Given the description of an element on the screen output the (x, y) to click on. 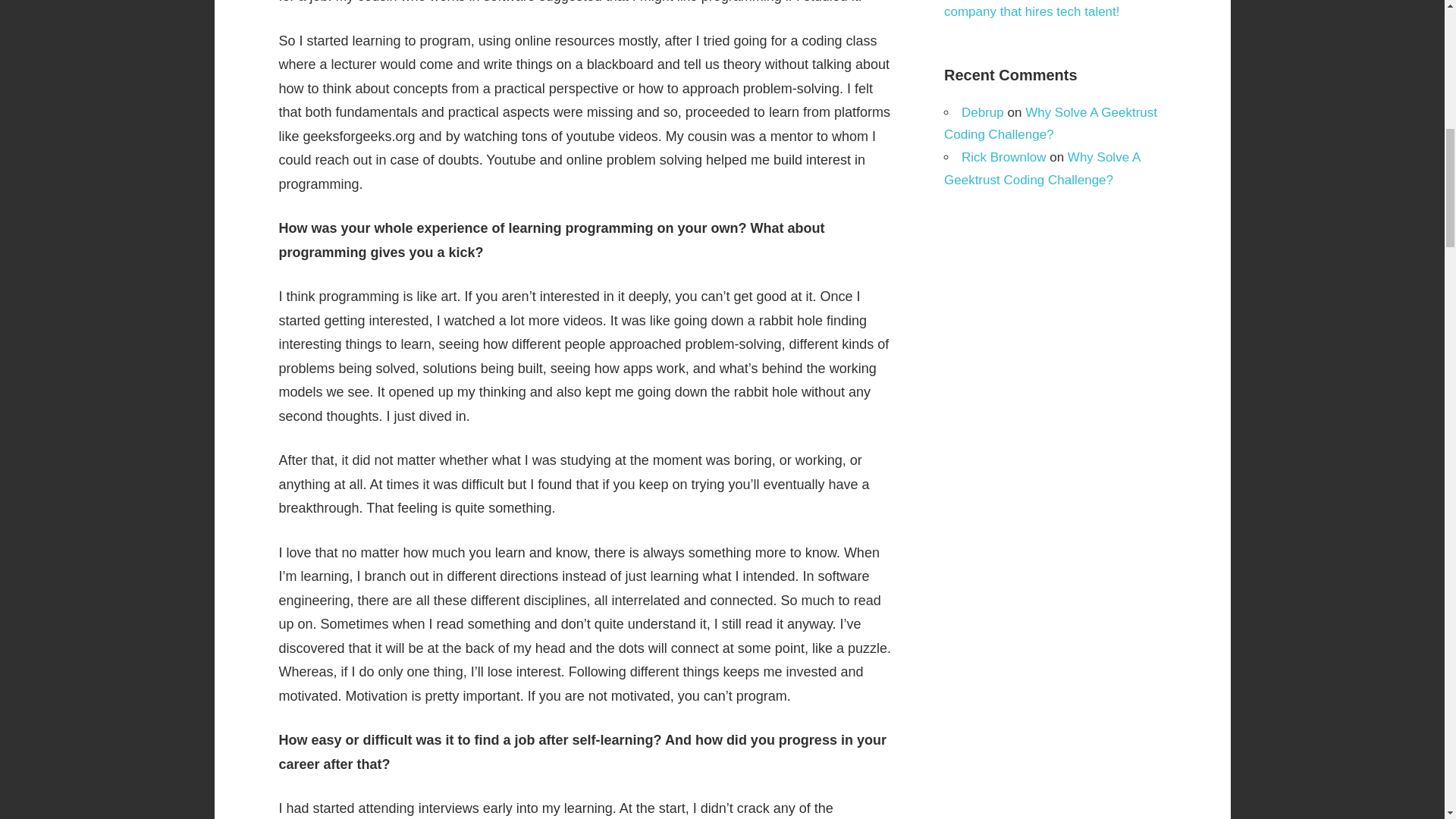
Rick Brownlow (1002, 156)
Why Solve A Geektrust Coding Challenge? (1041, 168)
Debrup (982, 111)
Why Solve A Geektrust Coding Challenge? (1050, 122)
An affordable plan for every company that hires tech talent! (1031, 9)
